Given the description of an element on the screen output the (x, y) to click on. 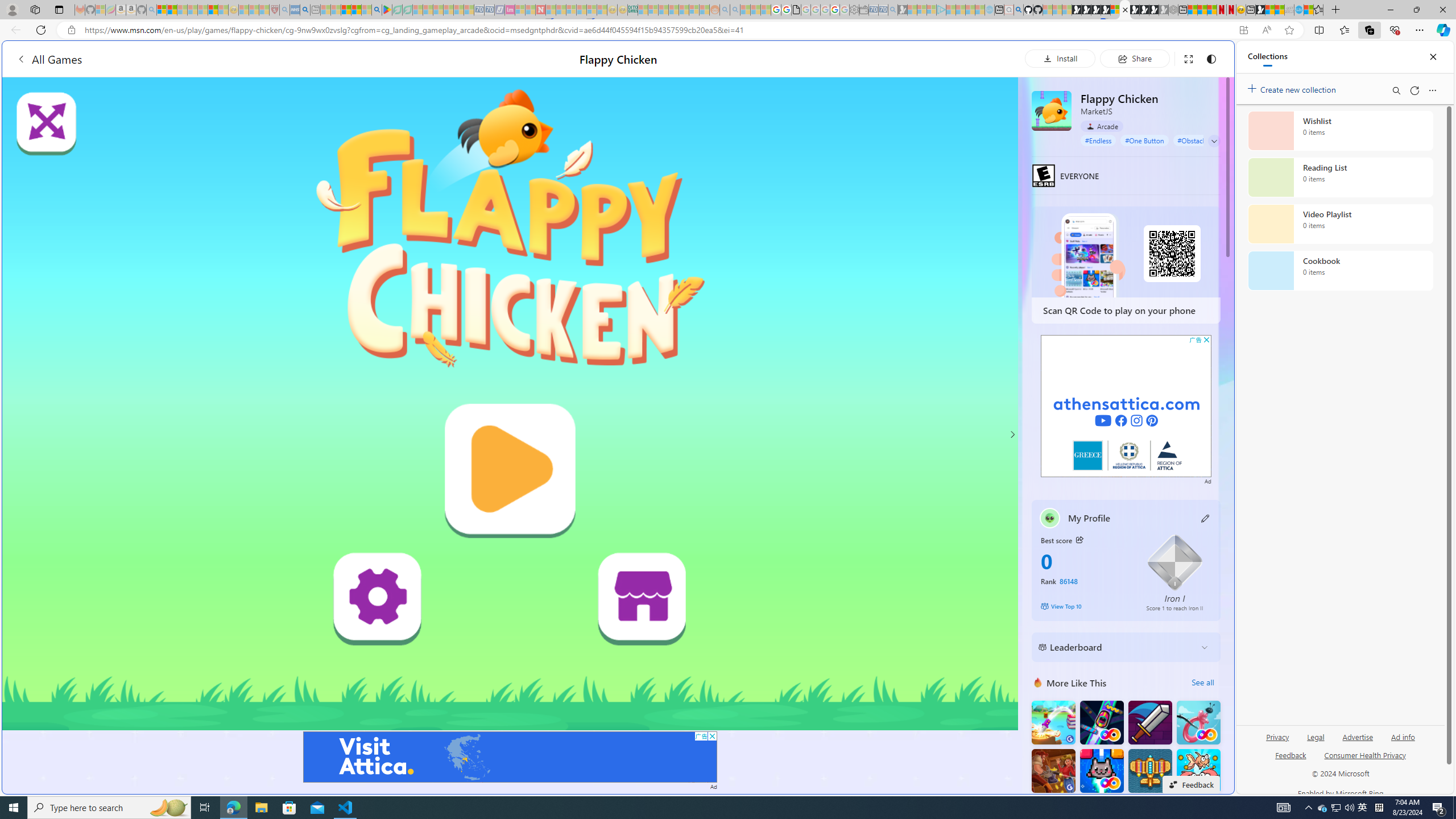
See all (1202, 682)
Bluey: Let's Play! - Apps on Google Play (387, 9)
Fish Merge FRVR (1198, 770)
